Given the description of an element on the screen output the (x, y) to click on. 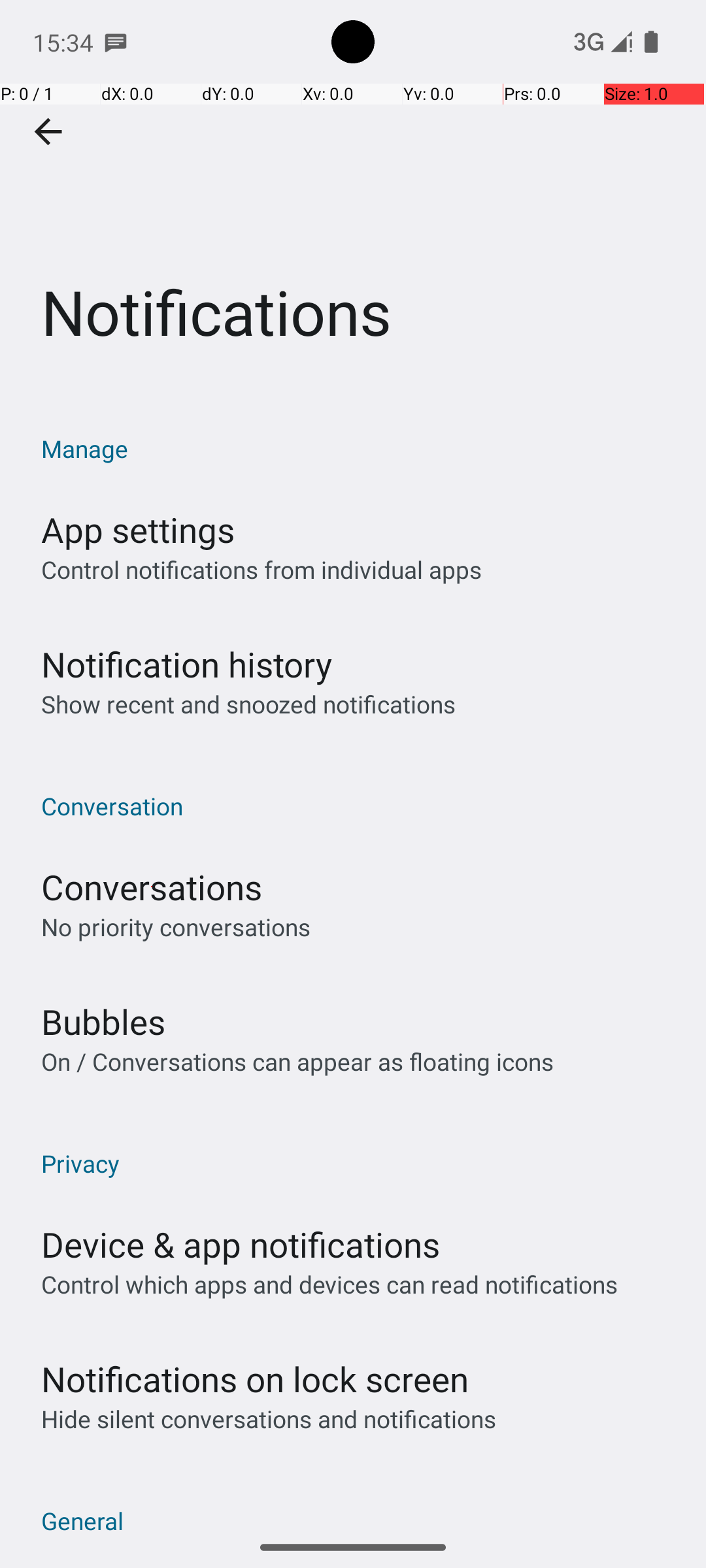
Manage Element type: android.widget.TextView (359, 448)
App settings Element type: android.widget.TextView (137, 529)
Control notifications from individual apps Element type: android.widget.TextView (261, 569)
Notification history Element type: android.widget.TextView (186, 663)
Show recent and snoozed notifications Element type: android.widget.TextView (248, 703)
Conversation Element type: android.widget.TextView (359, 805)
Conversations Element type: android.widget.TextView (151, 886)
No priority conversations Element type: android.widget.TextView (175, 926)
Bubbles Element type: android.widget.TextView (103, 1021)
On / Conversations can appear as floating icons Element type: android.widget.TextView (297, 1061)
Privacy Element type: android.widget.TextView (359, 1162)
Device & app notifications Element type: android.widget.TextView (240, 1244)
Control which apps and devices can read notifications Element type: android.widget.TextView (329, 1283)
Notifications on lock screen Element type: android.widget.TextView (254, 1378)
Hide silent conversations and notifications Element type: android.widget.TextView (268, 1418)
